Given the description of an element on the screen output the (x, y) to click on. 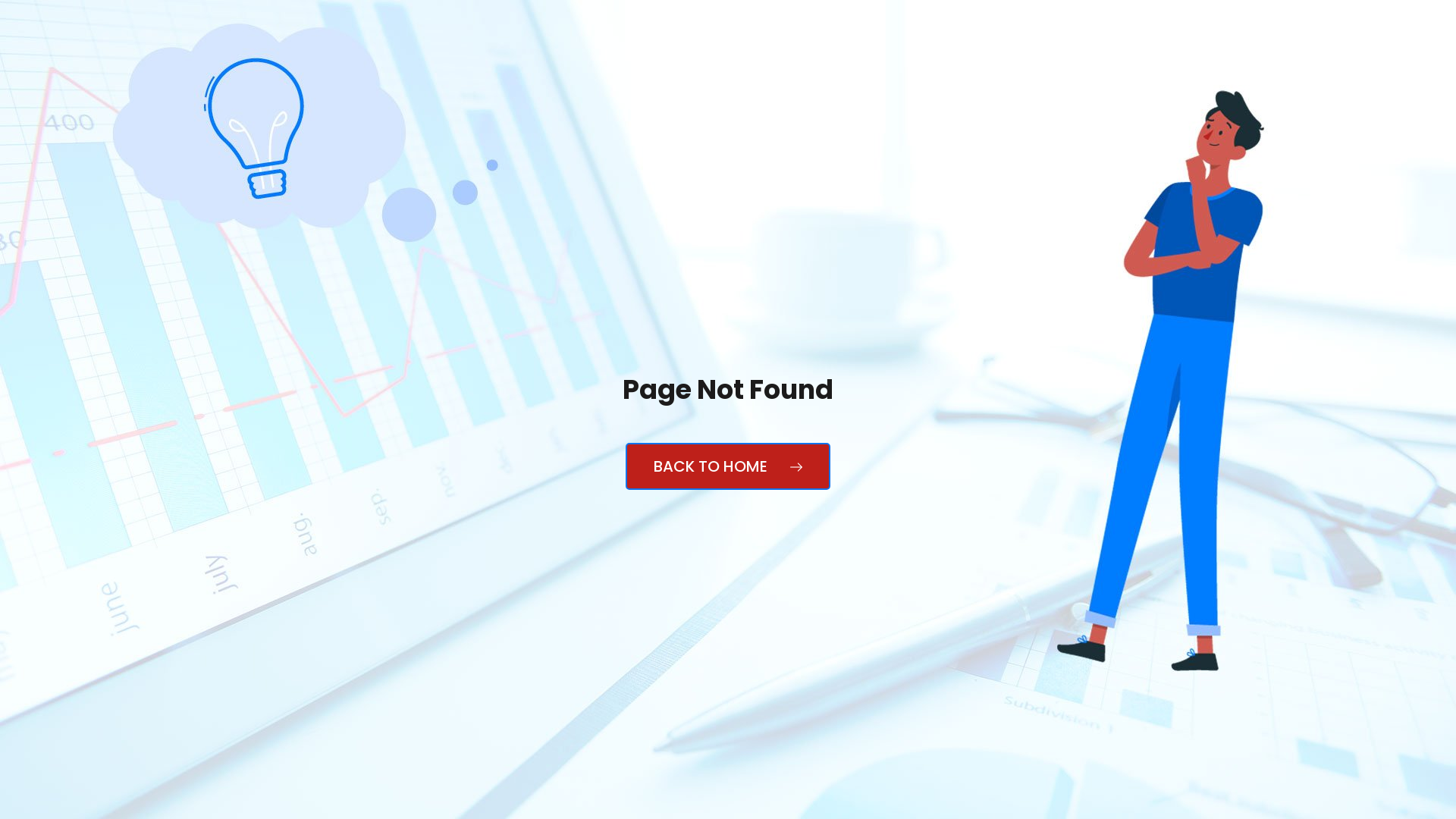
BACK TO HOME Element type: text (727, 465)
